Given the description of an element on the screen output the (x, y) to click on. 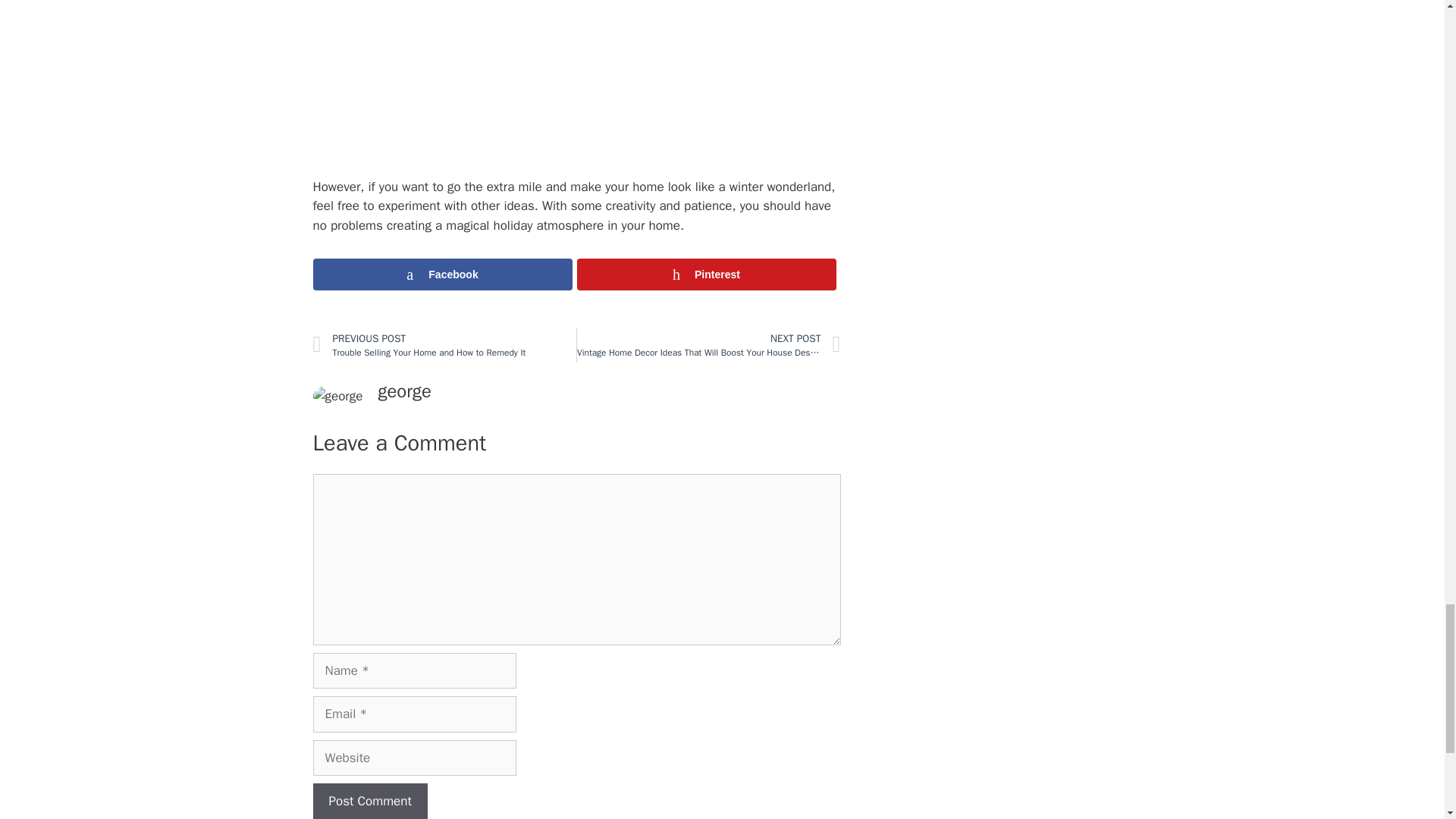
Facebook (442, 274)
Pinterest (705, 274)
Post Comment (444, 345)
Post Comment (369, 800)
